Given the description of an element on the screen output the (x, y) to click on. 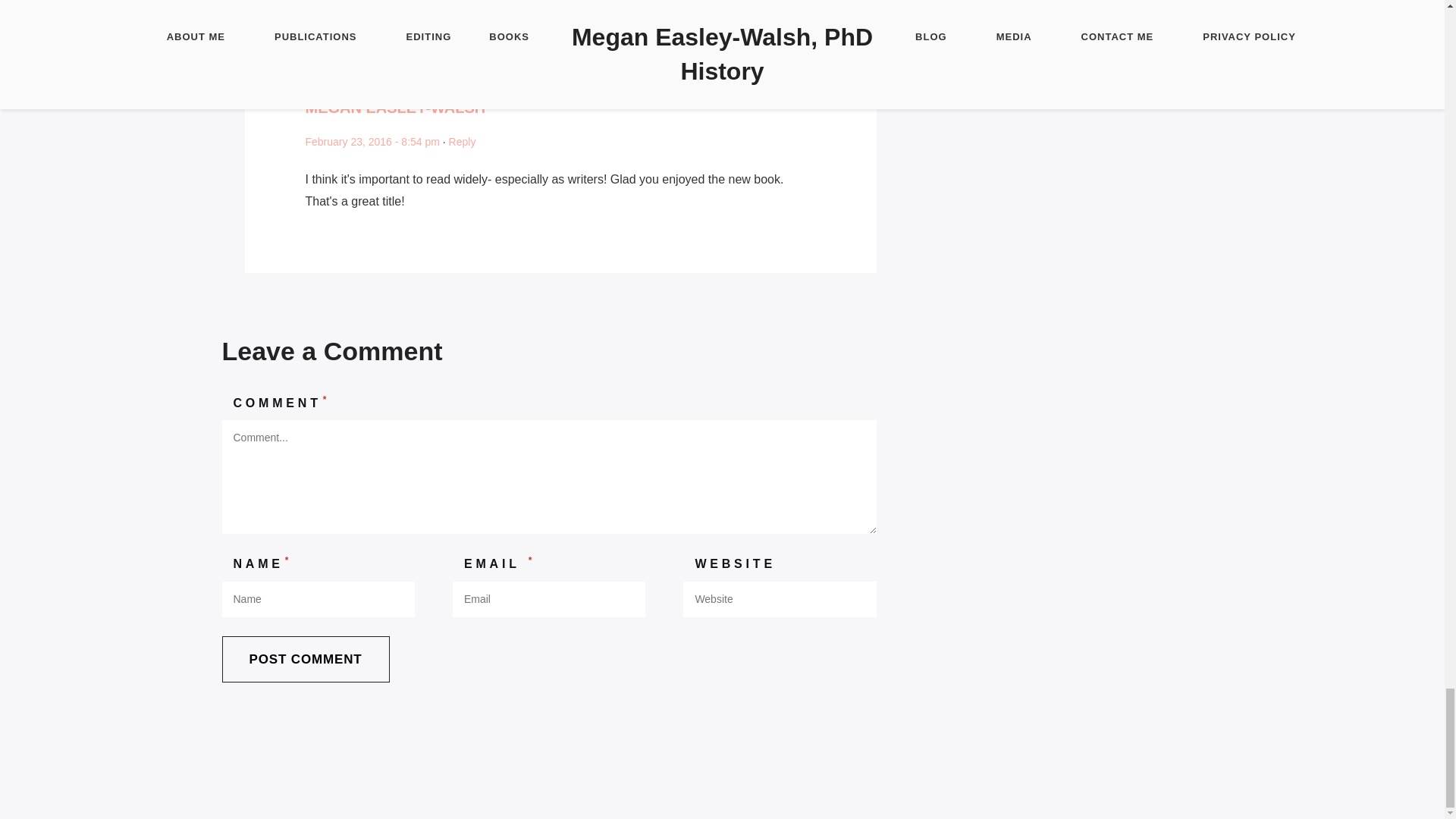
Post Comment (304, 659)
Reply (462, 141)
Post Comment (304, 659)
MEGAN EASLEY-WALSH (394, 107)
February 23, 2016 - 8:54 pm (371, 141)
